Given the description of an element on the screen output the (x, y) to click on. 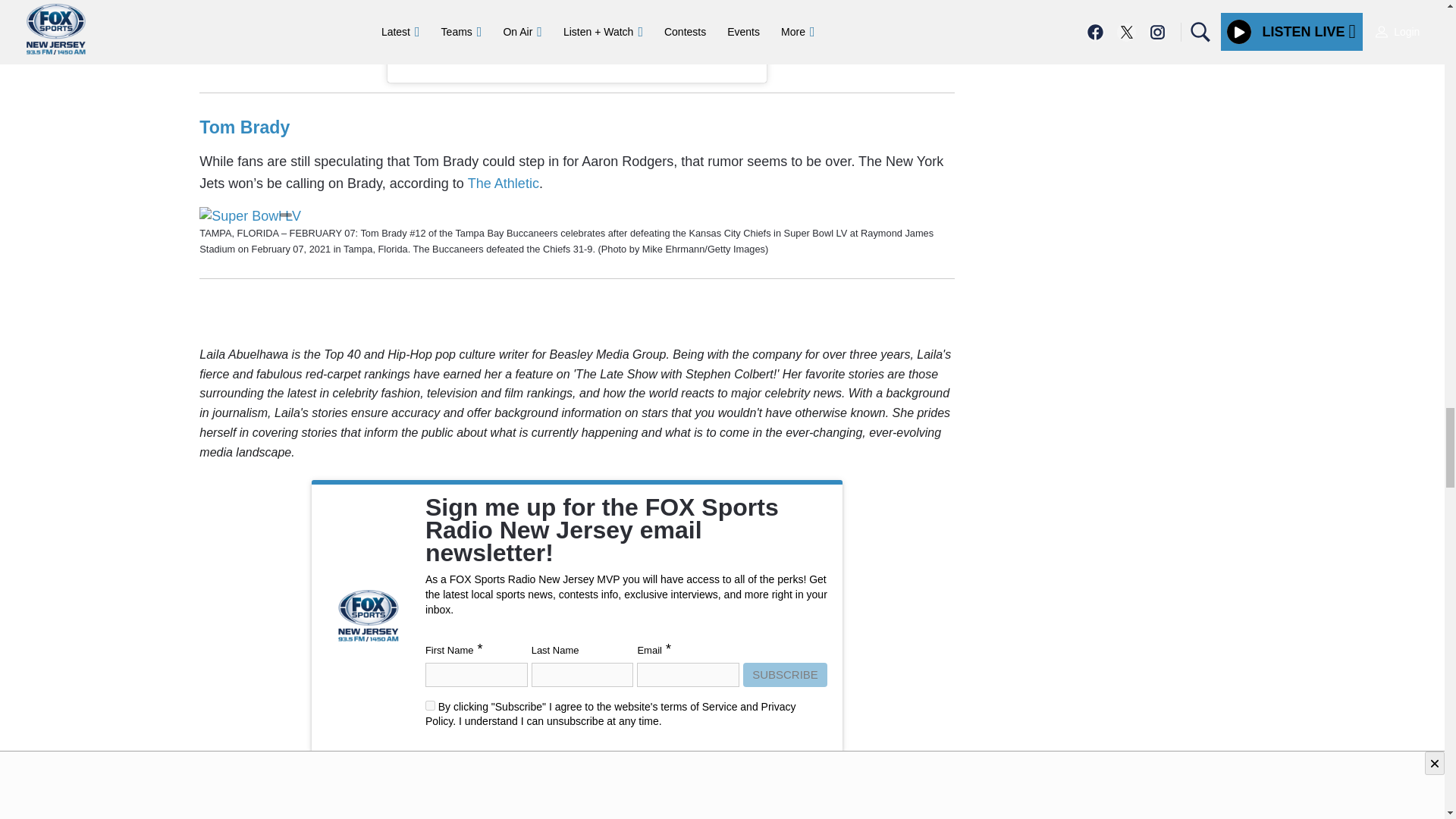
Laila Abuelhawa (292, 783)
on (430, 705)
